Given the description of an element on the screen output the (x, y) to click on. 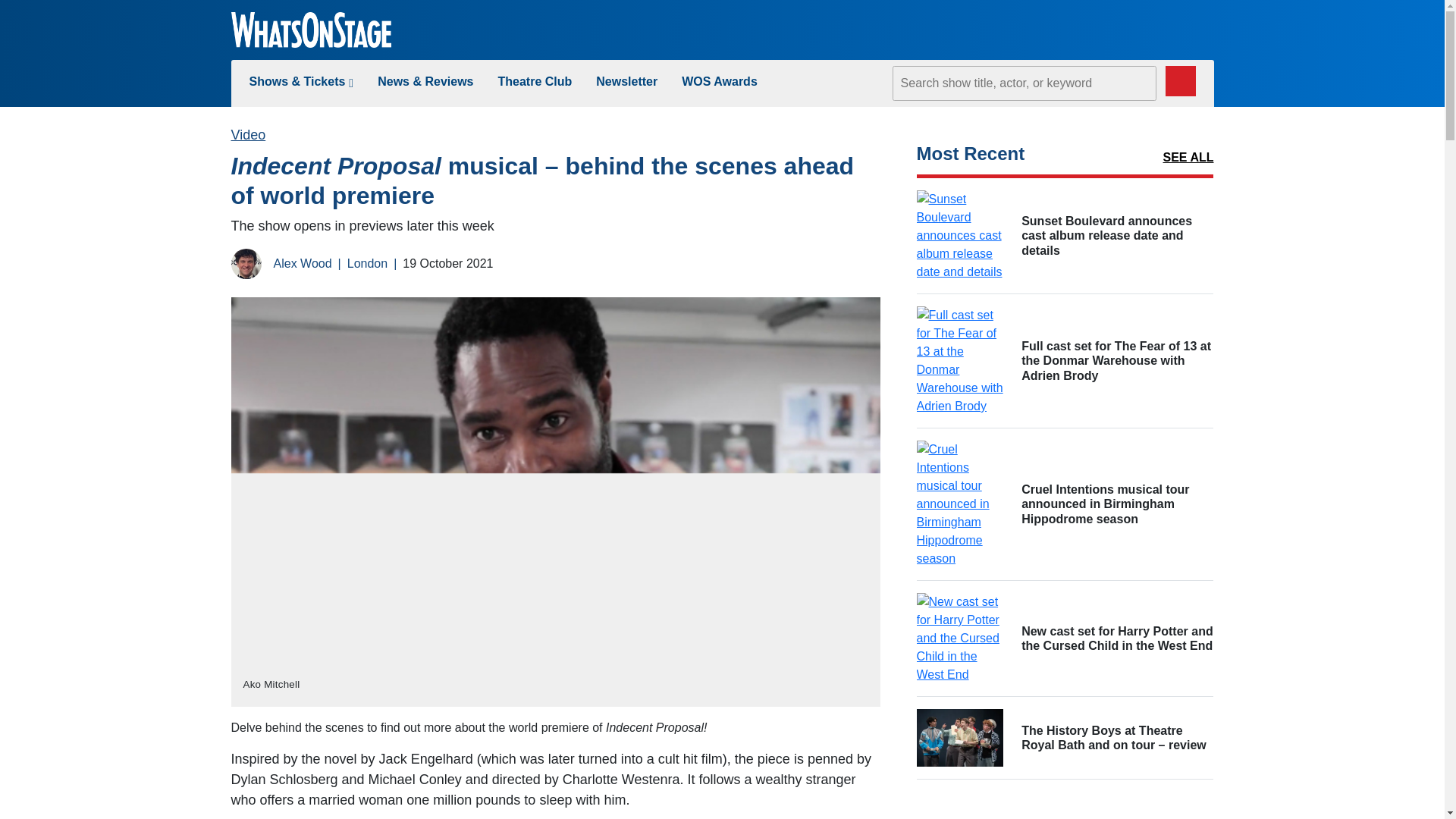
Newsletter (626, 81)
new-and-reviews-link (425, 81)
WOS Awards (719, 81)
Theatre Club (534, 81)
